Given the description of an element on the screen output the (x, y) to click on. 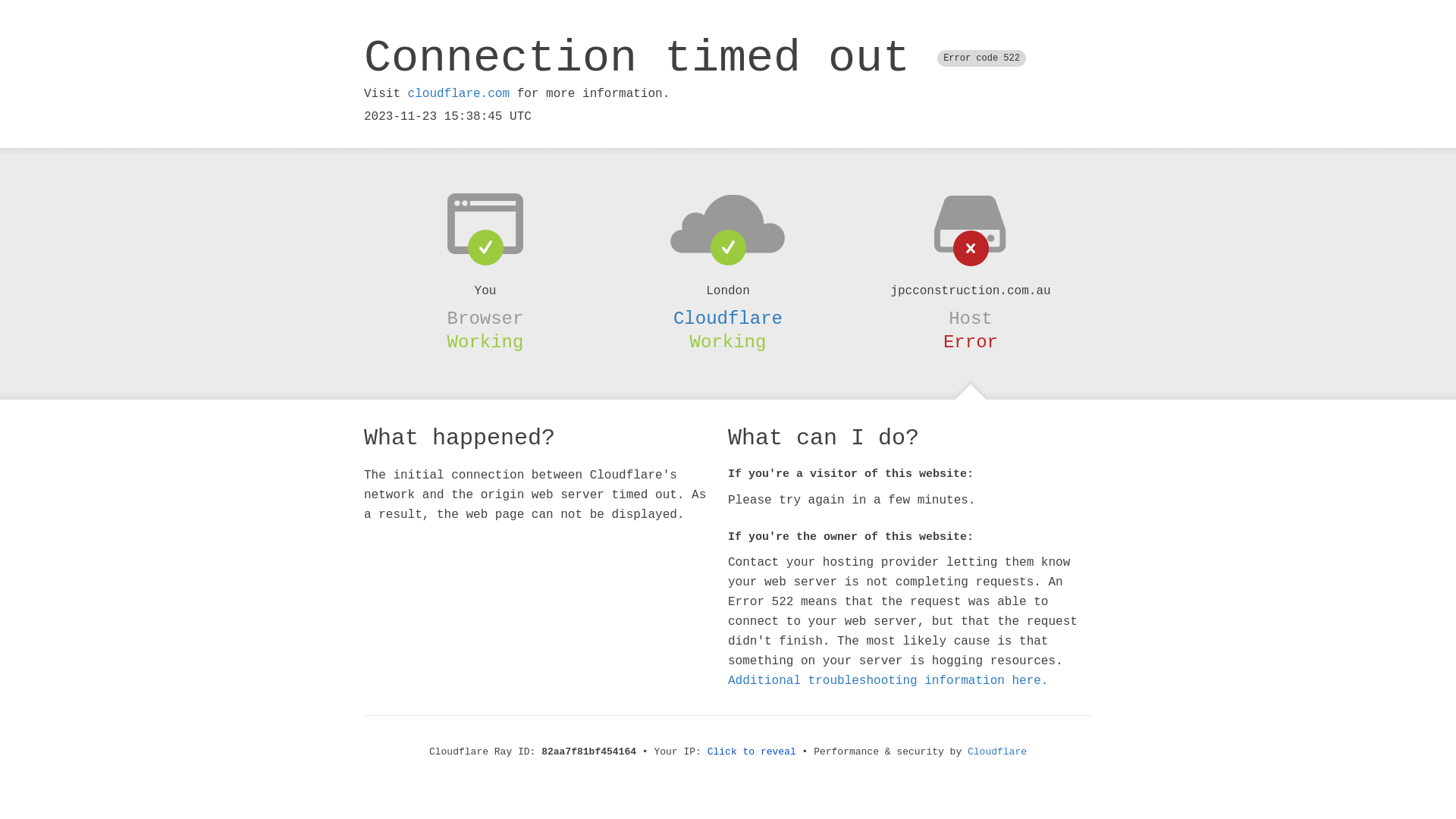
Click to reveal Element type: text (751, 751)
Cloudflare Element type: text (727, 318)
Cloudflare Element type: text (996, 751)
cloudflare.com Element type: text (458, 93)
Additional troubleshooting information here. Element type: text (888, 680)
